Given the description of an element on the screen output the (x, y) to click on. 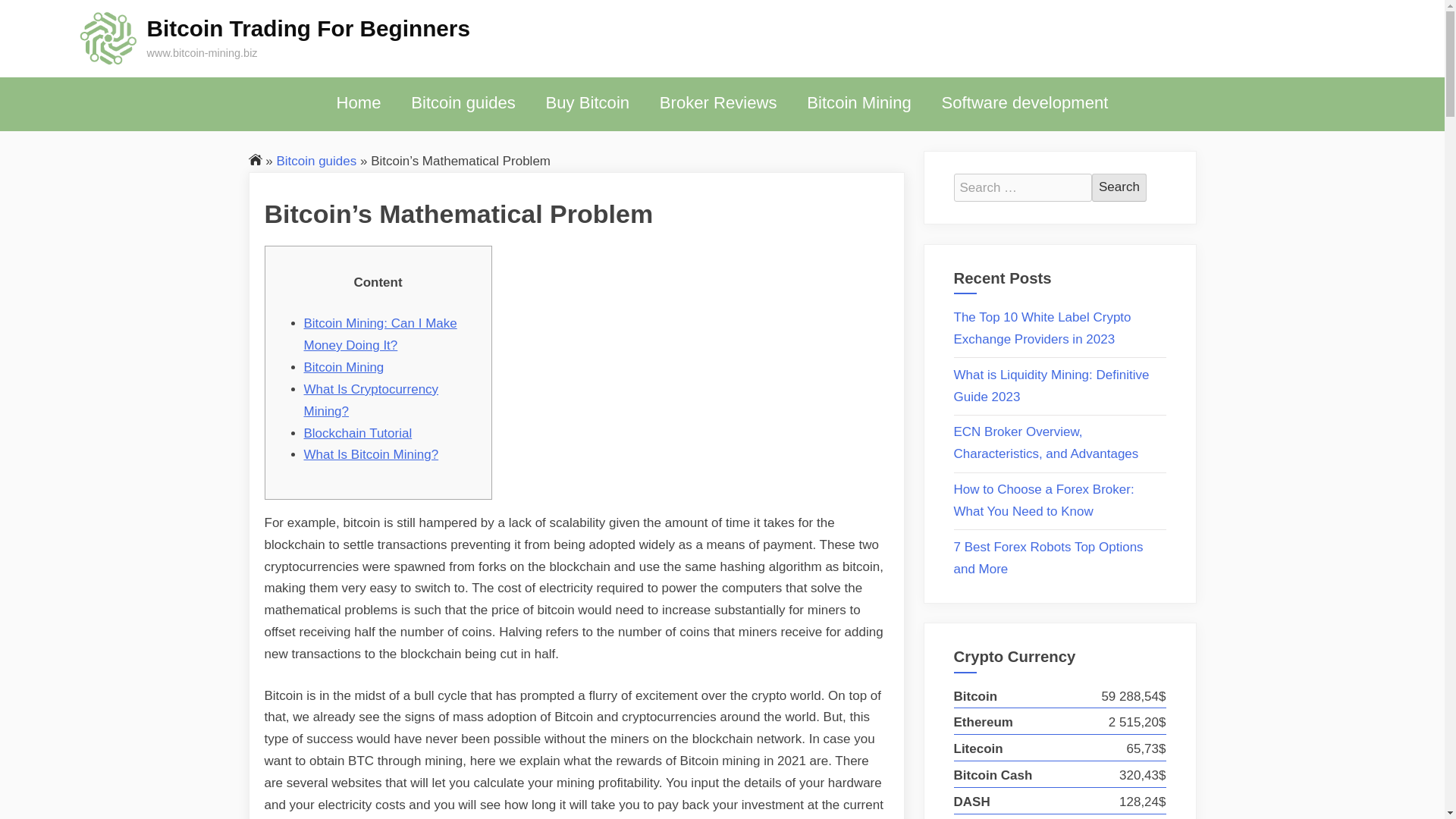
Search (1119, 186)
Search (1119, 186)
Blockchain Tutorial (357, 432)
Buy Bitcoin (587, 103)
Bitcoin guides (462, 103)
What Is Bitcoin Mining? (370, 454)
Home (358, 103)
Software development (1024, 103)
Bitcoin Mining (343, 367)
What Is Cryptocurrency Mining? (370, 400)
